Given the description of an element on the screen output the (x, y) to click on. 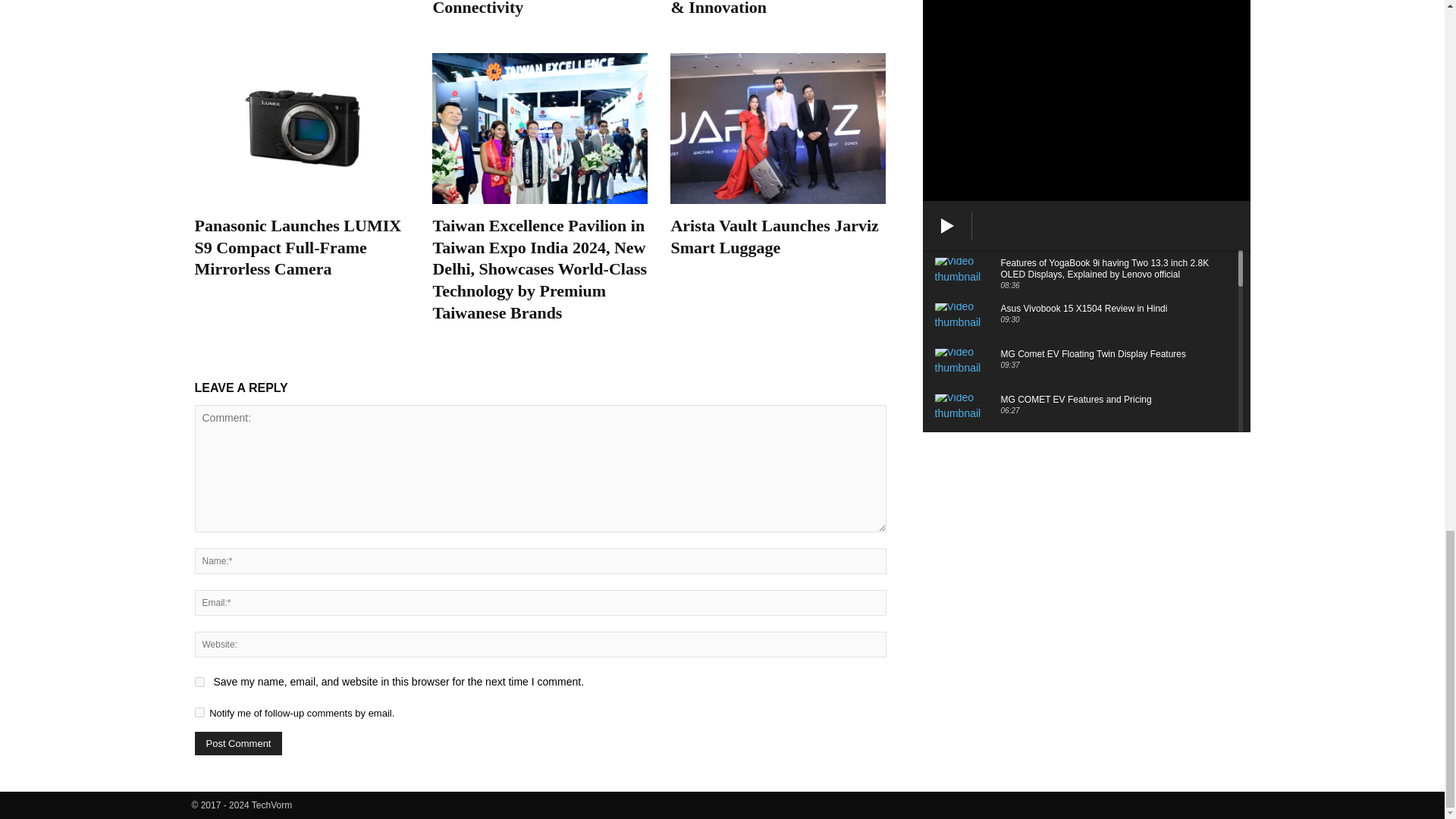
yes (198, 682)
subscribe (198, 712)
Post Comment (237, 743)
